Given the description of an element on the screen output the (x, y) to click on. 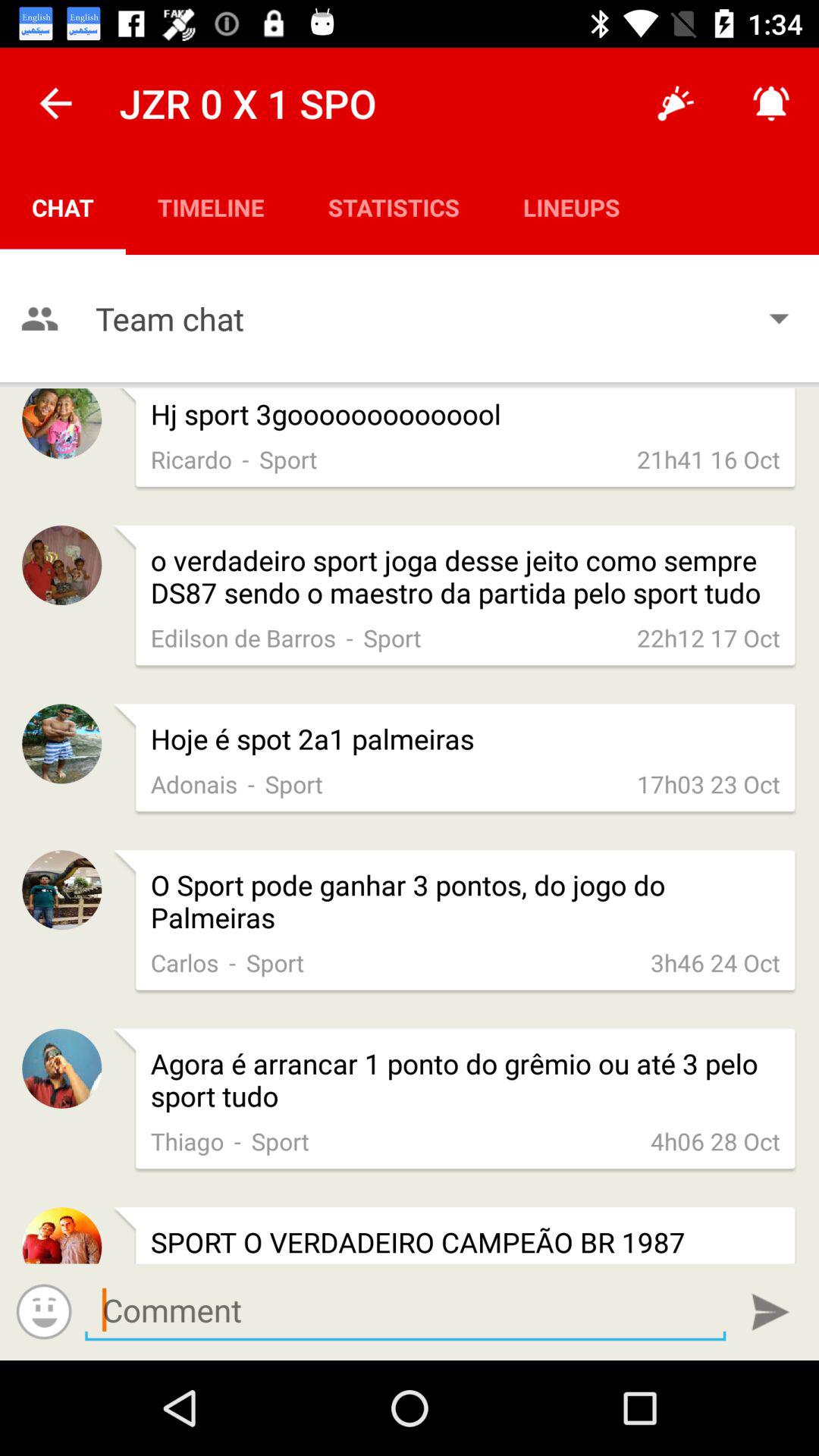
turn off the adonais app (193, 783)
